Given the description of an element on the screen output the (x, y) to click on. 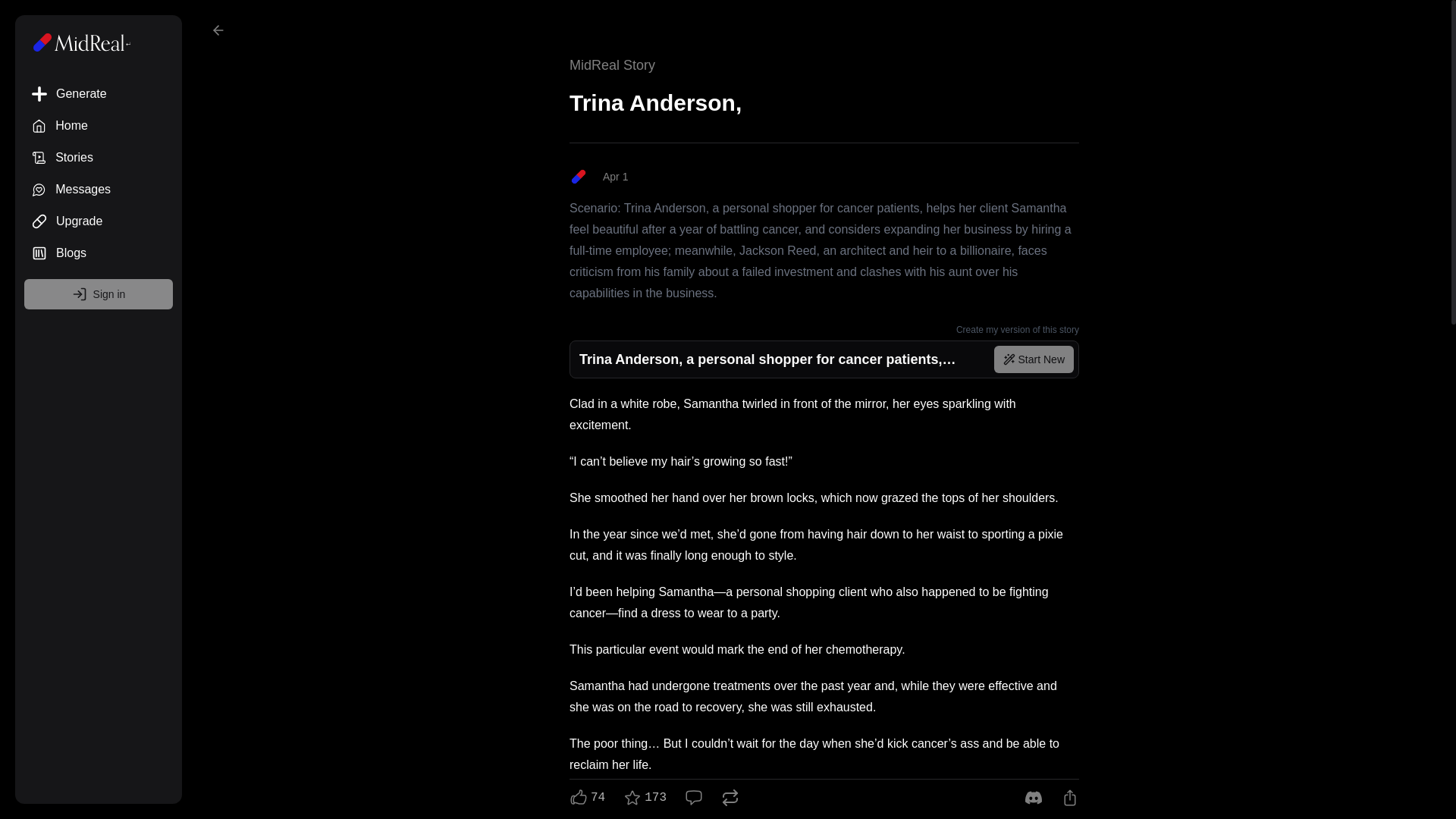
Apr 1 (823, 176)
Stories (98, 157)
Generate (98, 93)
Blogs (98, 253)
Messages (98, 189)
Upgrade (98, 221)
Sign in (98, 294)
Start New (1034, 359)
Home (98, 125)
